Given the description of an element on the screen output the (x, y) to click on. 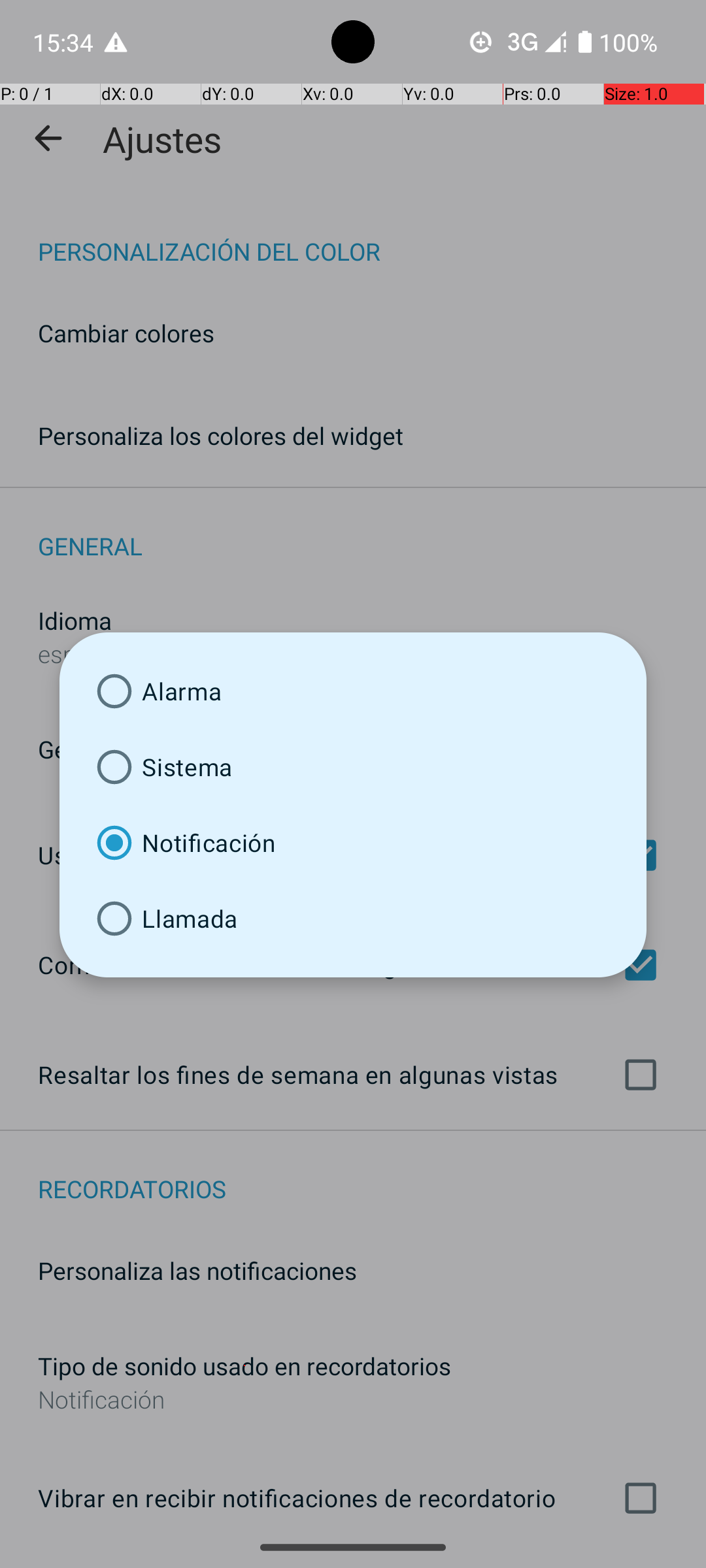
Alarma Element type: android.widget.RadioButton (352, 691)
Sistema Element type: android.widget.RadioButton (352, 766)
Notificación Element type: android.widget.RadioButton (352, 842)
Llamada Element type: android.widget.RadioButton (352, 918)
